Given the description of an element on the screen output the (x, y) to click on. 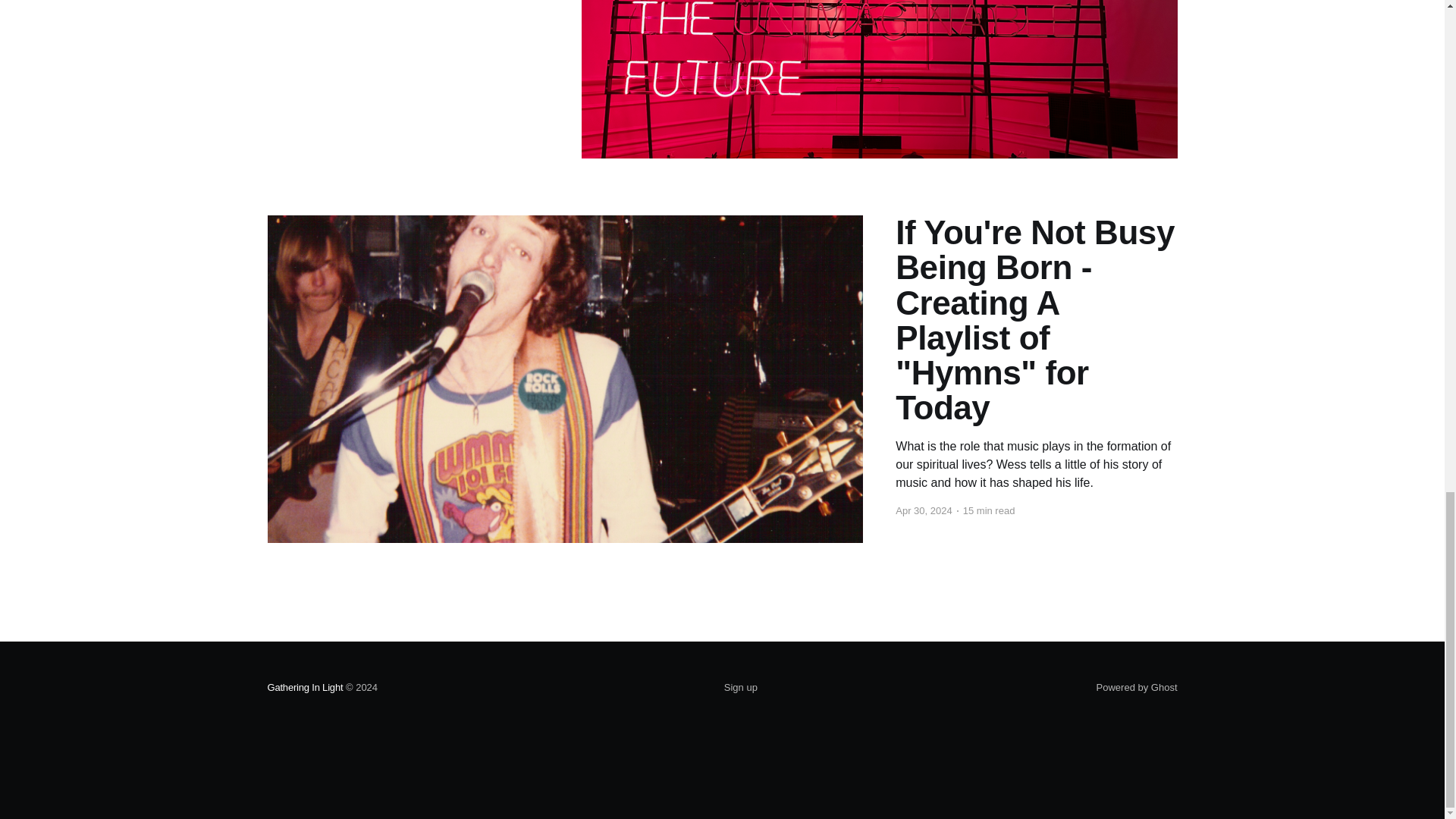
Gathering In Light (304, 686)
Sign up (740, 687)
Powered by Ghost (1136, 686)
